Given the description of an element on the screen output the (x, y) to click on. 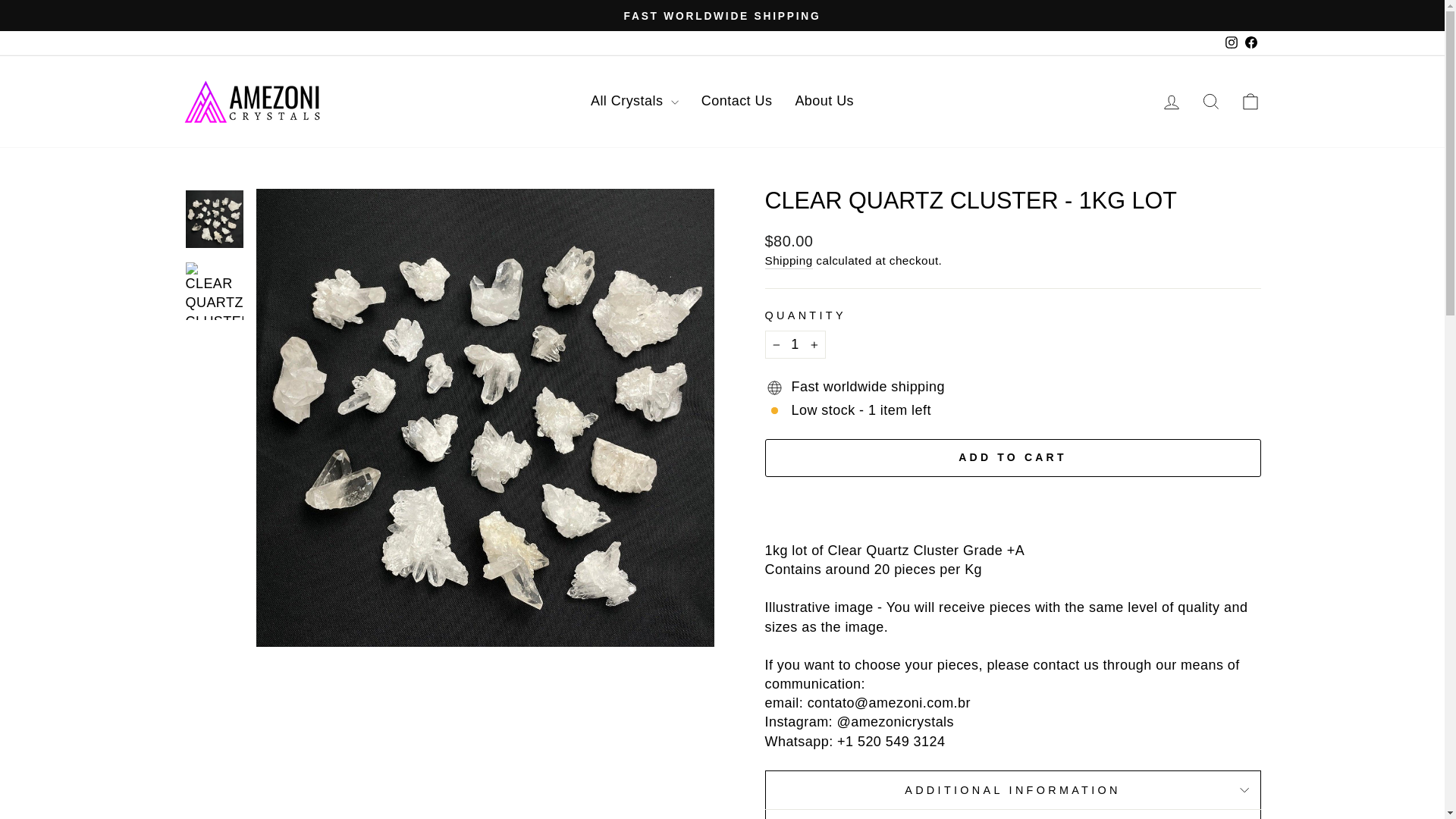
instagram (1231, 42)
1 (794, 344)
icon-bag-minimal (1249, 101)
account (1170, 102)
icon-search (1210, 101)
